Given the description of an element on the screen output the (x, y) to click on. 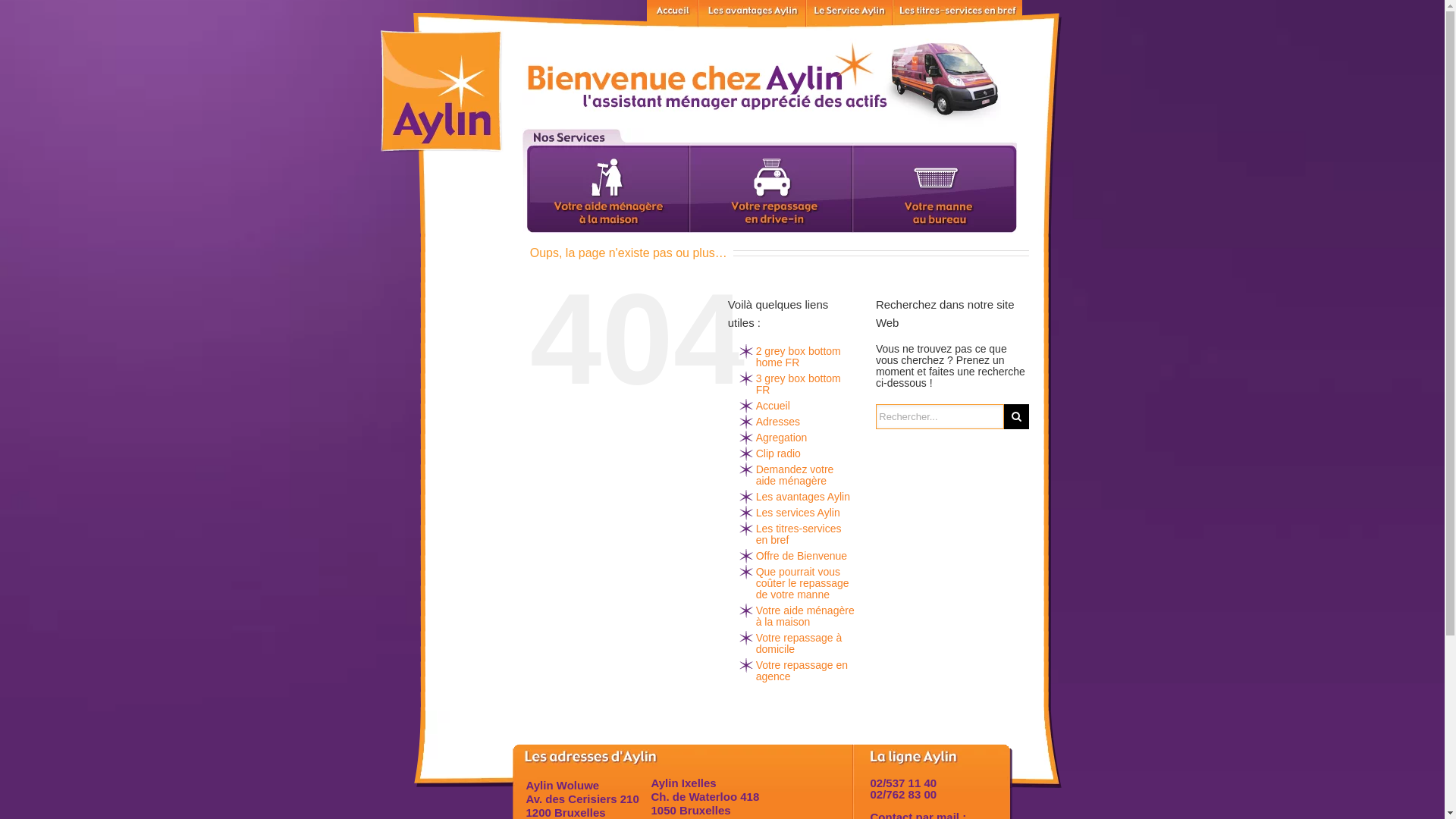
Adresses Element type: text (778, 421)
Les services Aylin Element type: text (798, 512)
Accueil Element type: text (773, 405)
Les titres-services en bref Element type: text (956, 14)
Les avantages Aylin Element type: text (752, 14)
Les titres-services en bref Element type: text (798, 534)
3 grey box bottom FR Element type: text (798, 383)
Votre repassage en agence Element type: text (801, 670)
Clip radio Element type: text (778, 453)
2 grey box bottom home FR Element type: text (798, 356)
Votre repassage aussi simple qu'un drive-in Element type: text (769, 180)
Agregation Element type: text (781, 437)
Accueil Element type: text (672, 14)
Les avantages Aylin Element type: text (803, 496)
Offre de Bienvenue Element type: text (801, 555)
Les services Aylin Element type: text (848, 14)
